Given the description of an element on the screen output the (x, y) to click on. 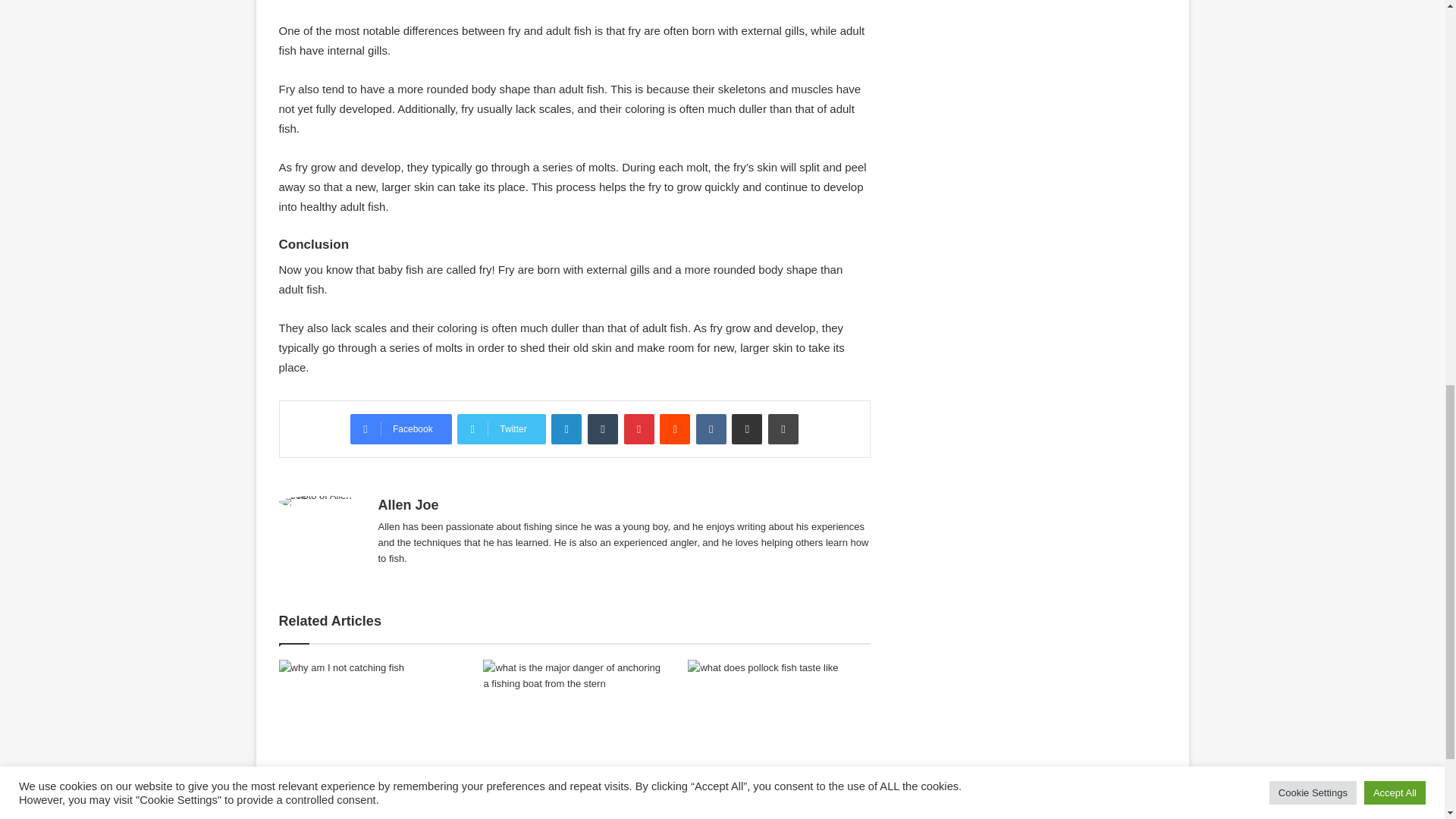
Twitter (500, 429)
Reddit (674, 429)
Facebook (400, 429)
Print (782, 429)
Reddit (674, 429)
Why Am I Not Catching Fish? (352, 795)
LinkedIn (565, 429)
Allen Joe (407, 504)
Share via Email (746, 429)
What Does Pollock Fish Taste Like? (778, 776)
Pinterest (638, 429)
Tumblr (602, 429)
Tumblr (602, 429)
Facebook (400, 429)
